Given the description of an element on the screen output the (x, y) to click on. 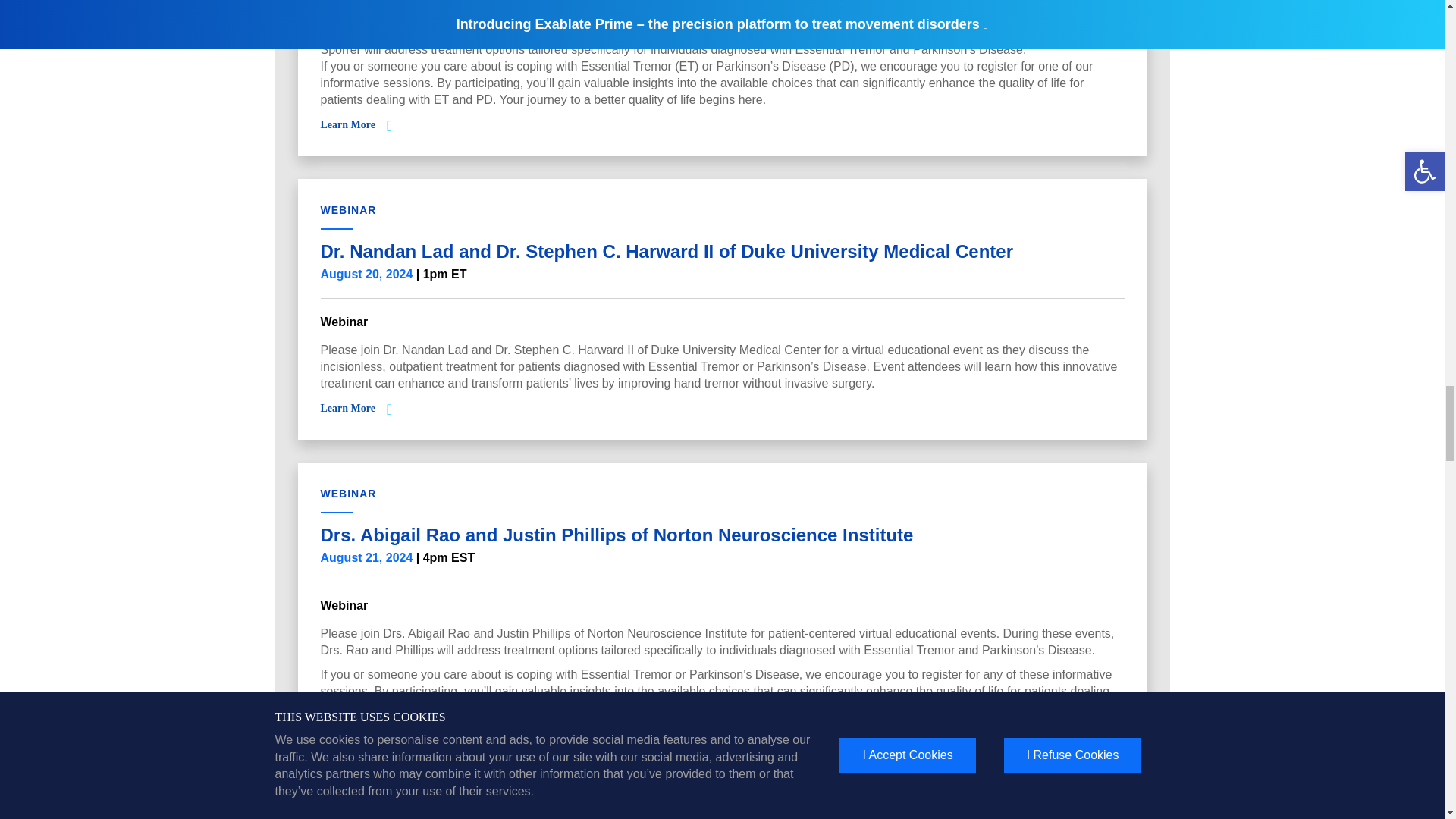
Learn More (347, 408)
Learn More (347, 732)
Learn More (347, 124)
